Given the description of an element on the screen output the (x, y) to click on. 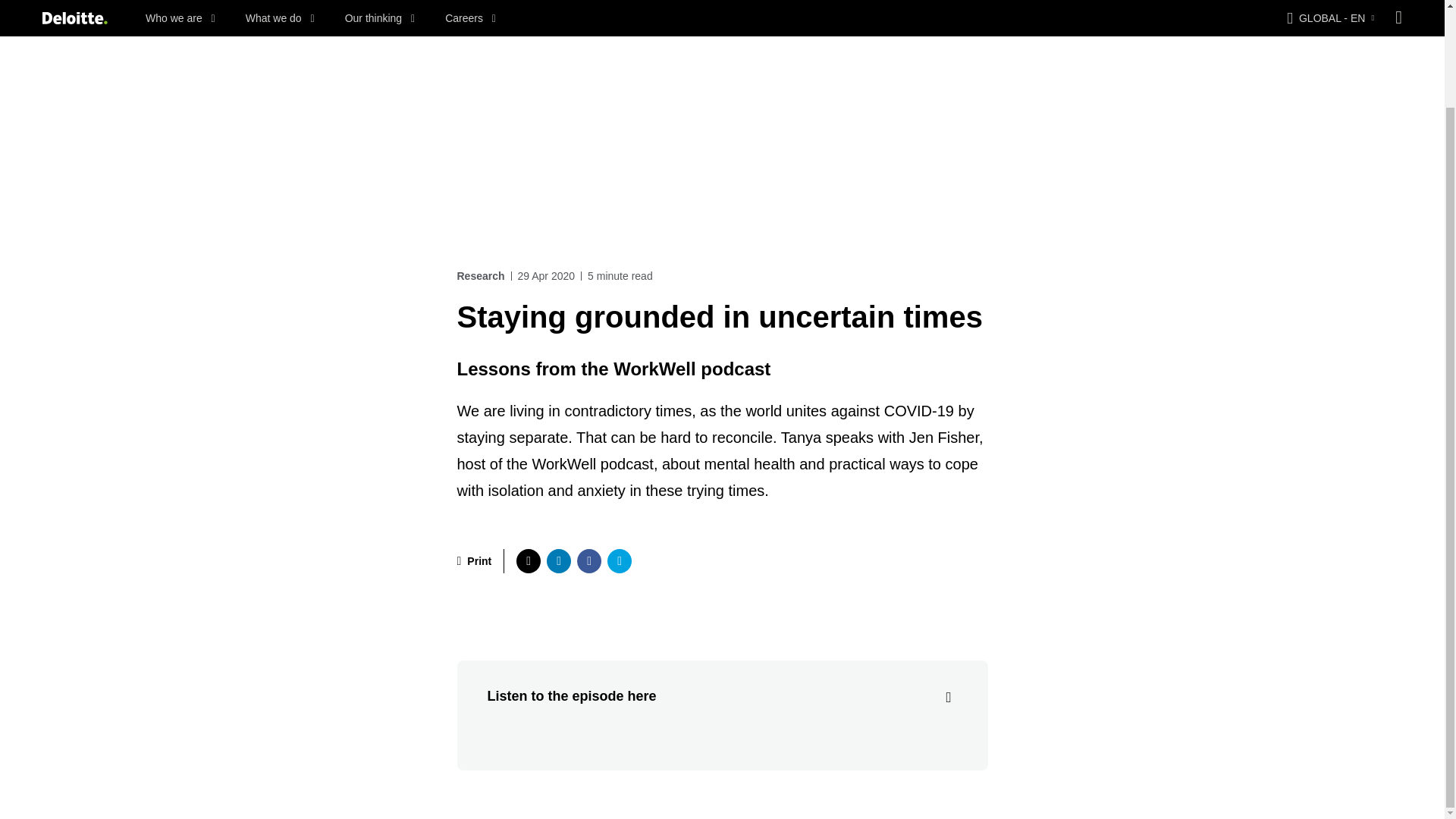
share via linkedin (558, 560)
share via twitter (528, 560)
share via facebook (588, 560)
Print (474, 560)
share va email (619, 560)
